Given the description of an element on the screen output the (x, y) to click on. 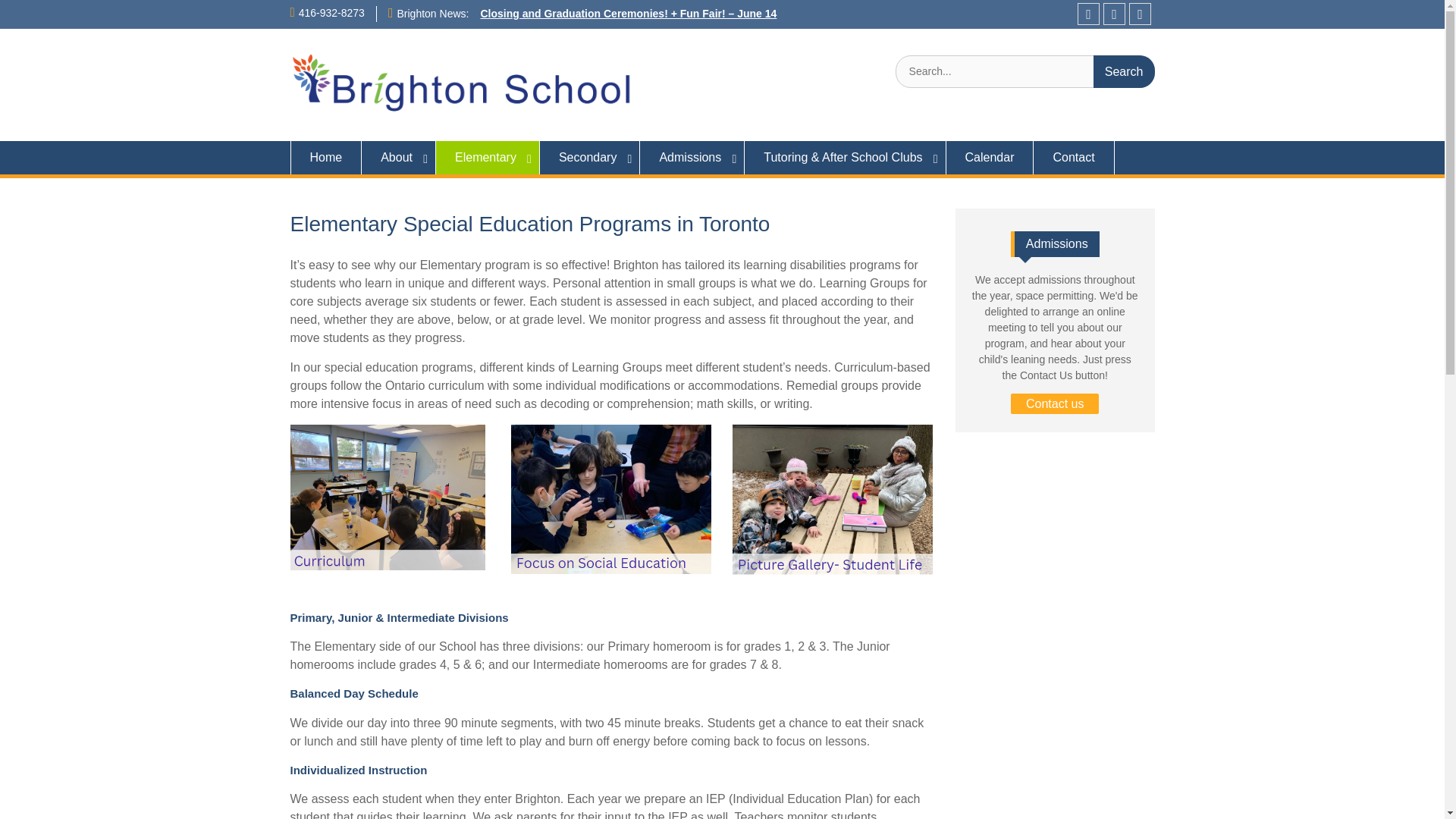
Instagram (1114, 14)
Admissions (692, 157)
Secondary (590, 157)
Pinterest (1140, 14)
Search (1123, 71)
Search (1123, 71)
About (398, 157)
416-932-8273 (331, 12)
Search for: (1024, 71)
Search (1123, 71)
Elementary (487, 157)
Facebook (1088, 14)
Home (325, 157)
